Given the description of an element on the screen output the (x, y) to click on. 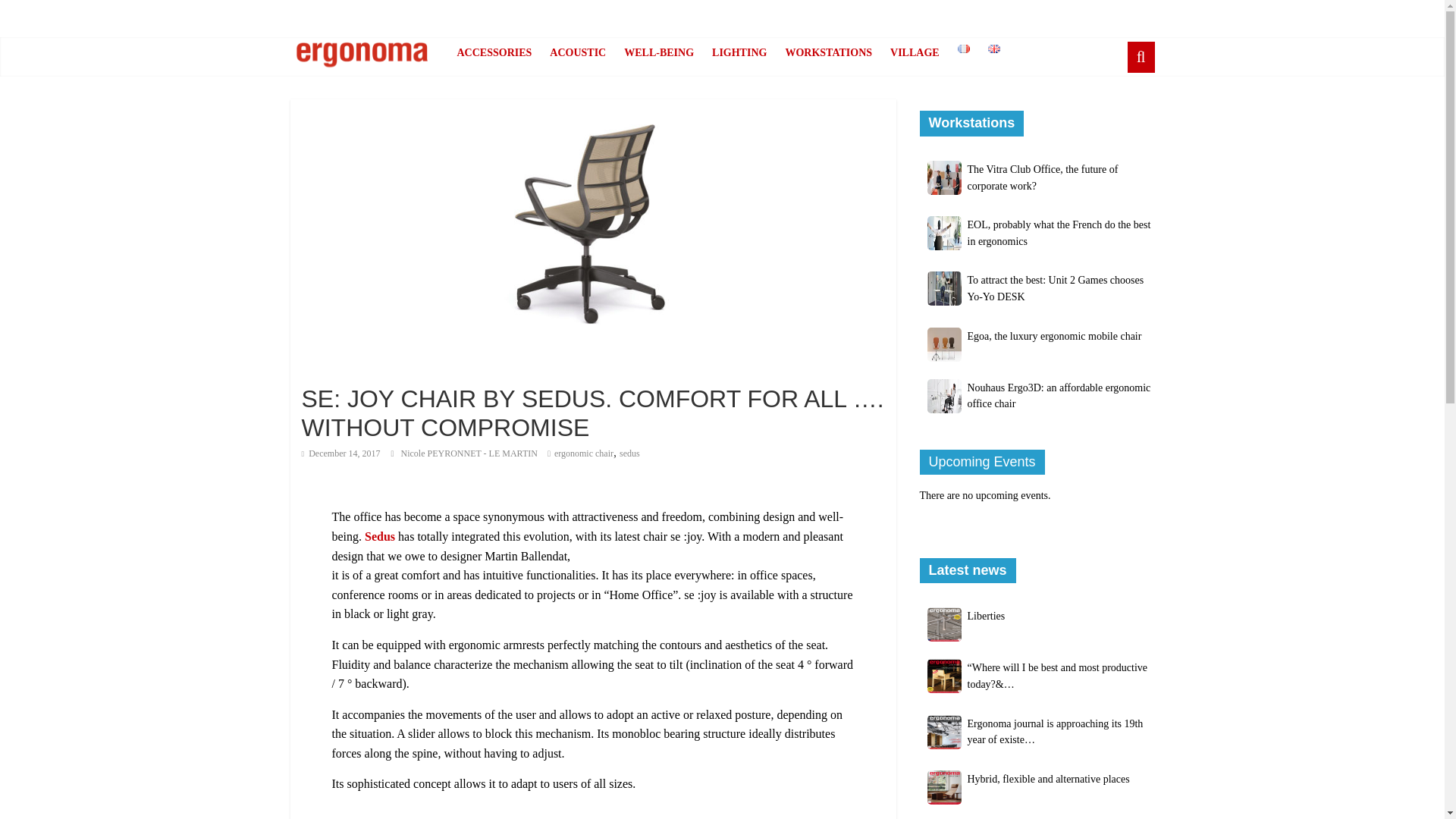
LIGHTING (739, 52)
ergonomic chair (583, 452)
Egoa, the luxury ergonomic mobile chair (1054, 336)
WELL-BEING (658, 52)
EOL, probably what the French do the best in ergonomics (1059, 233)
Nicole PEYRONNET - LE MARTIN (469, 452)
sedus (630, 452)
Nicole PEYRONNET - LE MARTIN (469, 452)
Sedus (379, 535)
The Vitra Club Office, the future of corporate work? (1043, 177)
Liberties (987, 615)
To attract the best: Unit 2 Games chooses Yo-Yo DESK (1056, 288)
ACOUSTIC (577, 52)
WORKSTATIONS (828, 52)
